Given the description of an element on the screen output the (x, y) to click on. 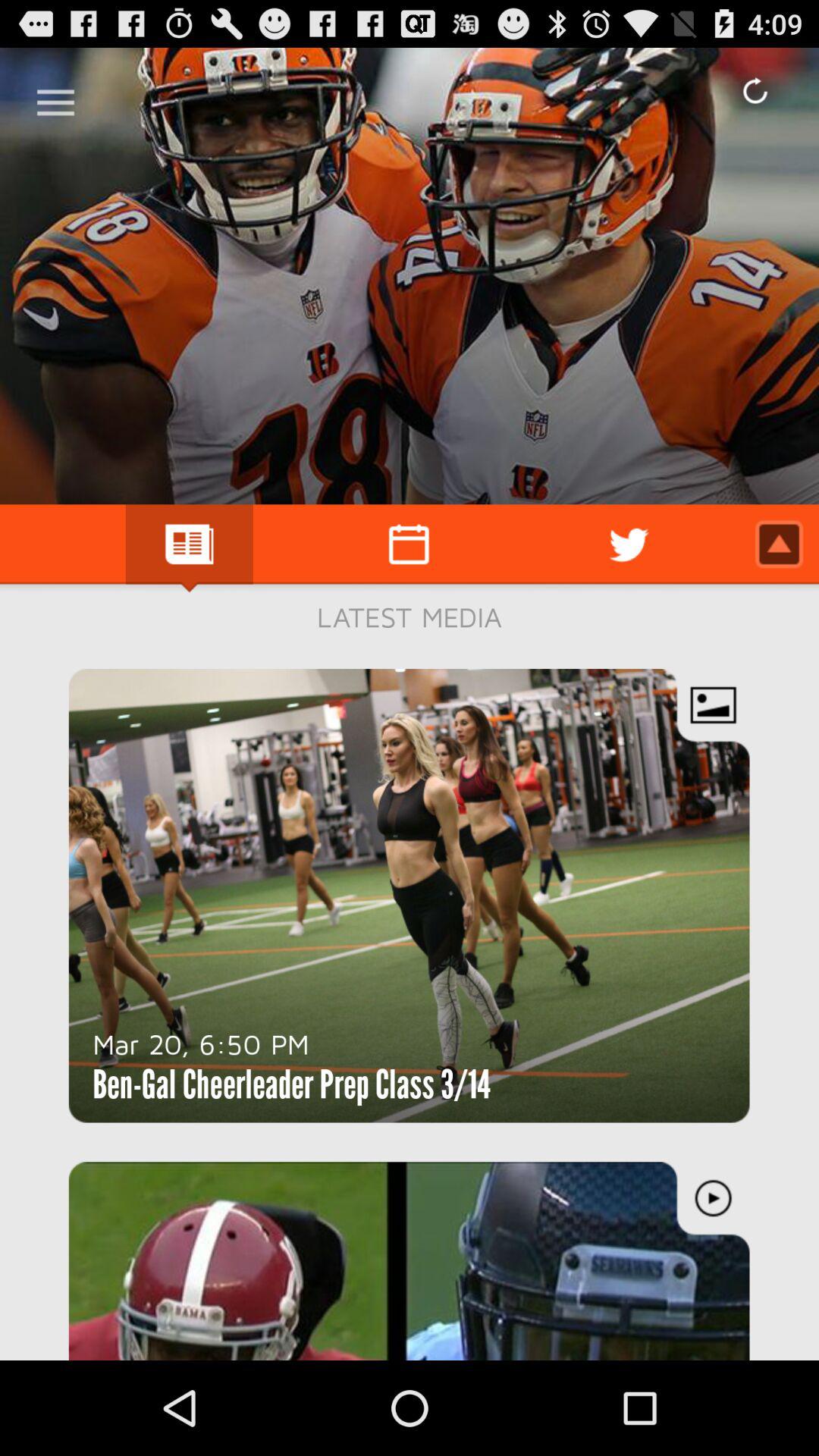
launch item at the bottom left corner (200, 1043)
